Given the description of an element on the screen output the (x, y) to click on. 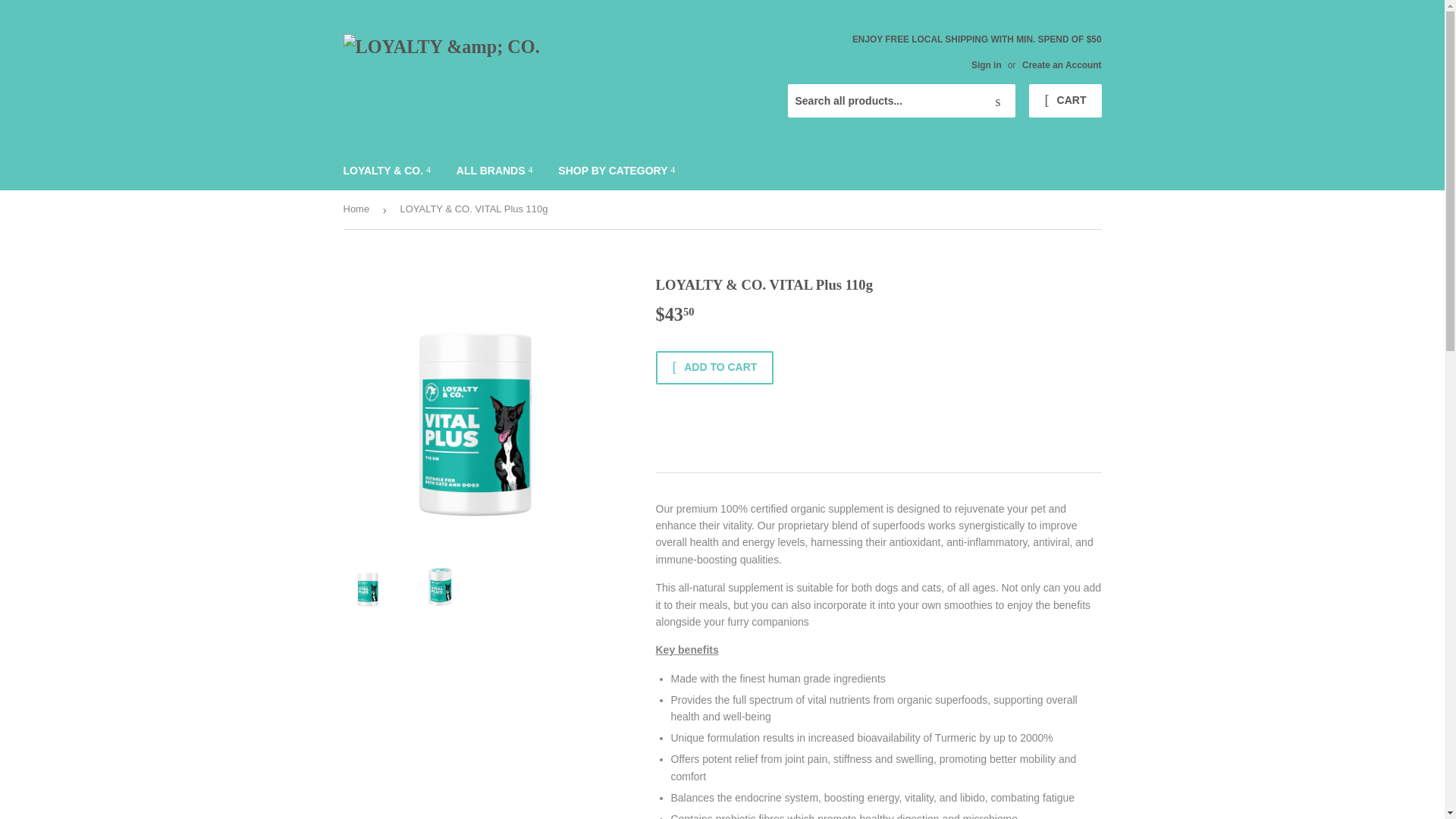
Create an Account (1062, 64)
Search (997, 101)
Sign in (986, 64)
CART (1064, 100)
